Given the description of an element on the screen output the (x, y) to click on. 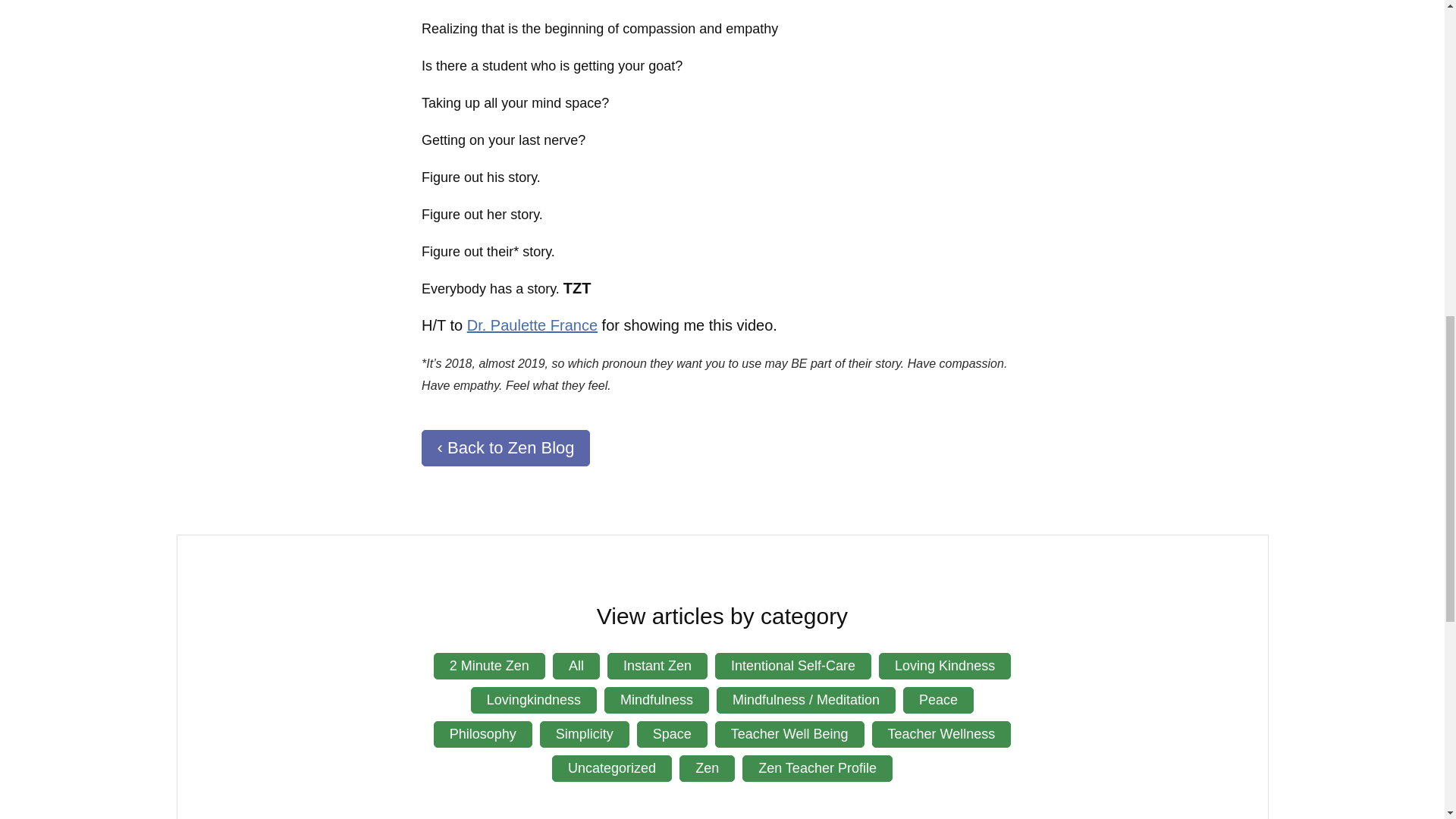
Zen (707, 768)
Dr. Paulette France (531, 324)
Space (672, 734)
2 Minute Zen (488, 665)
Zen Teacher Profile (817, 768)
Loving Kindness (944, 665)
Mindfulness (656, 700)
Teacher Wellness (941, 734)
Philosophy (482, 734)
Teacher Well Being (789, 734)
